Given the description of an element on the screen output the (x, y) to click on. 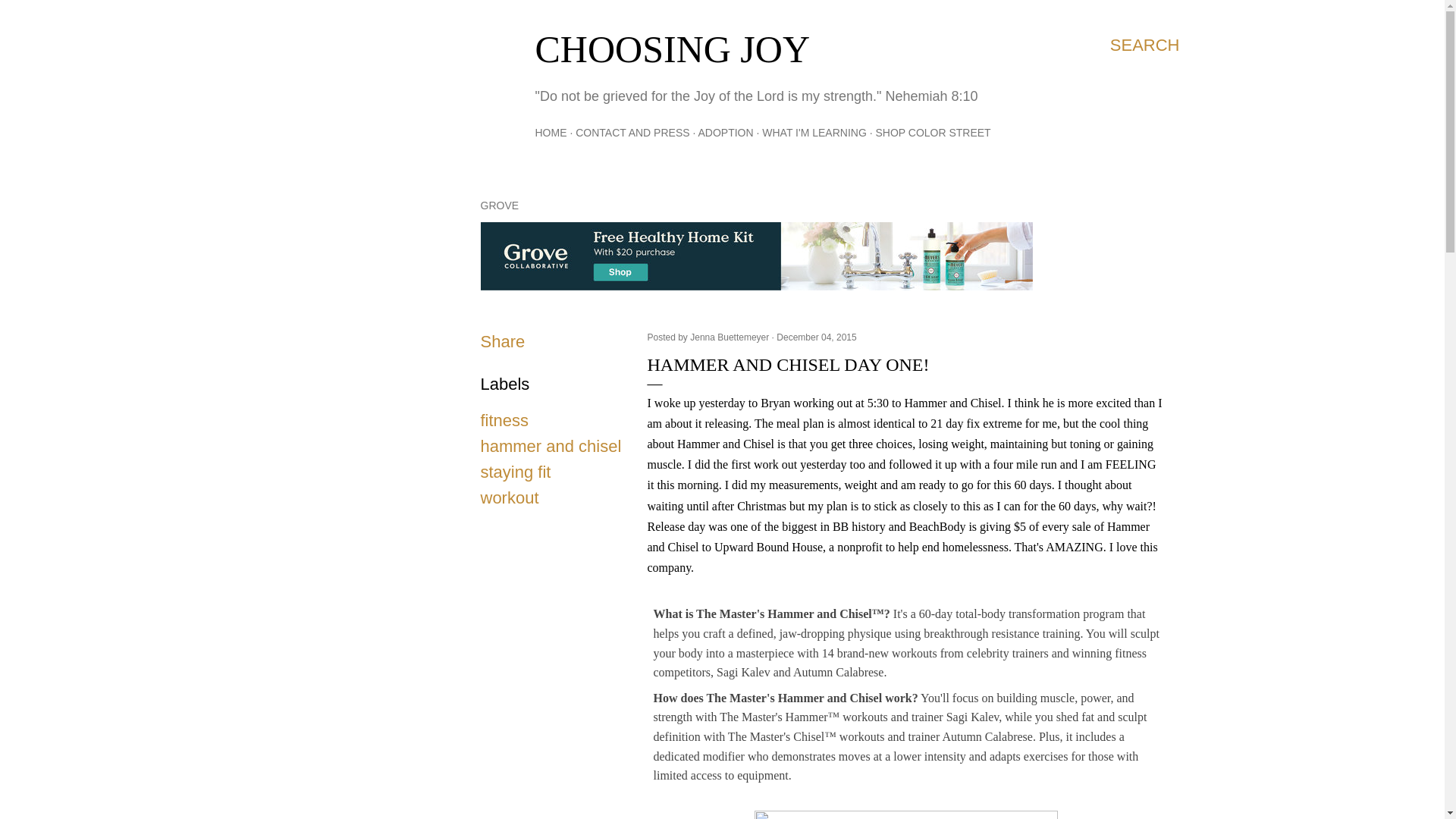
hammer and chisel (550, 445)
HOME (551, 132)
SHOP COLOR STREET (932, 132)
workout (509, 497)
staying fit (515, 471)
author profile (730, 337)
fitness (504, 420)
permanent link (816, 337)
ADOPTION (724, 132)
CHOOSING JOY (672, 48)
